Given the description of an element on the screen output the (x, y) to click on. 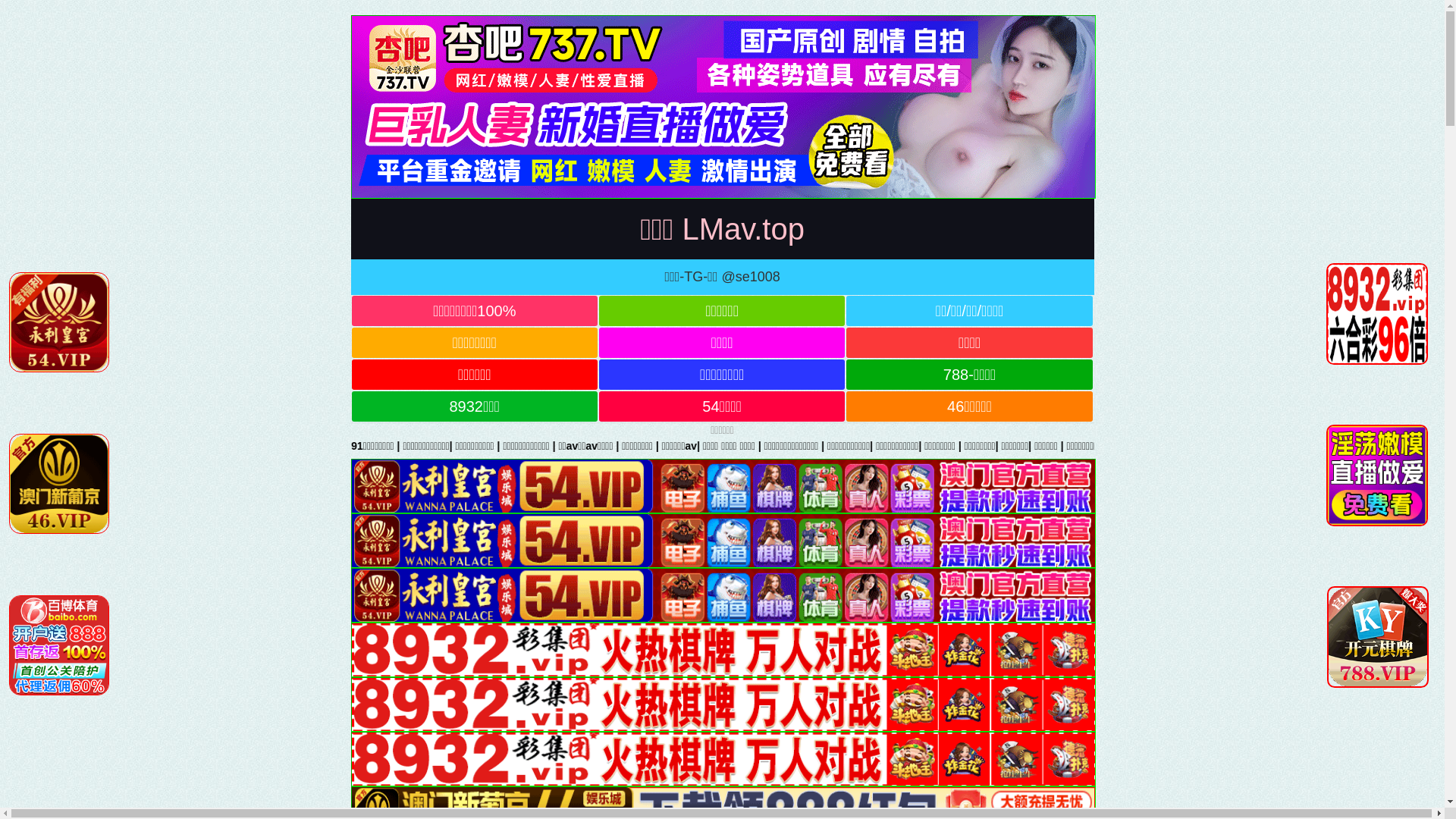
| Element type: text (1220, 445)
| Element type: text (1258, 445)
| Element type: text (806, 445)
| Element type: text (685, 445)
| Element type: text (1297, 445)
| Element type: text (755, 445)
| Element type: text (849, 445)
| Element type: text (1008, 445)
| Element type: text (958, 445)
| Element type: text (1357, 445)
| Element type: text (891, 445)
| Element type: text (1159, 445)
| Element type: text (1417, 445)
| Element type: text (1105, 445)
| Element type: text (713, 445)
| Element type: text (1059, 445)
